Given the description of an element on the screen output the (x, y) to click on. 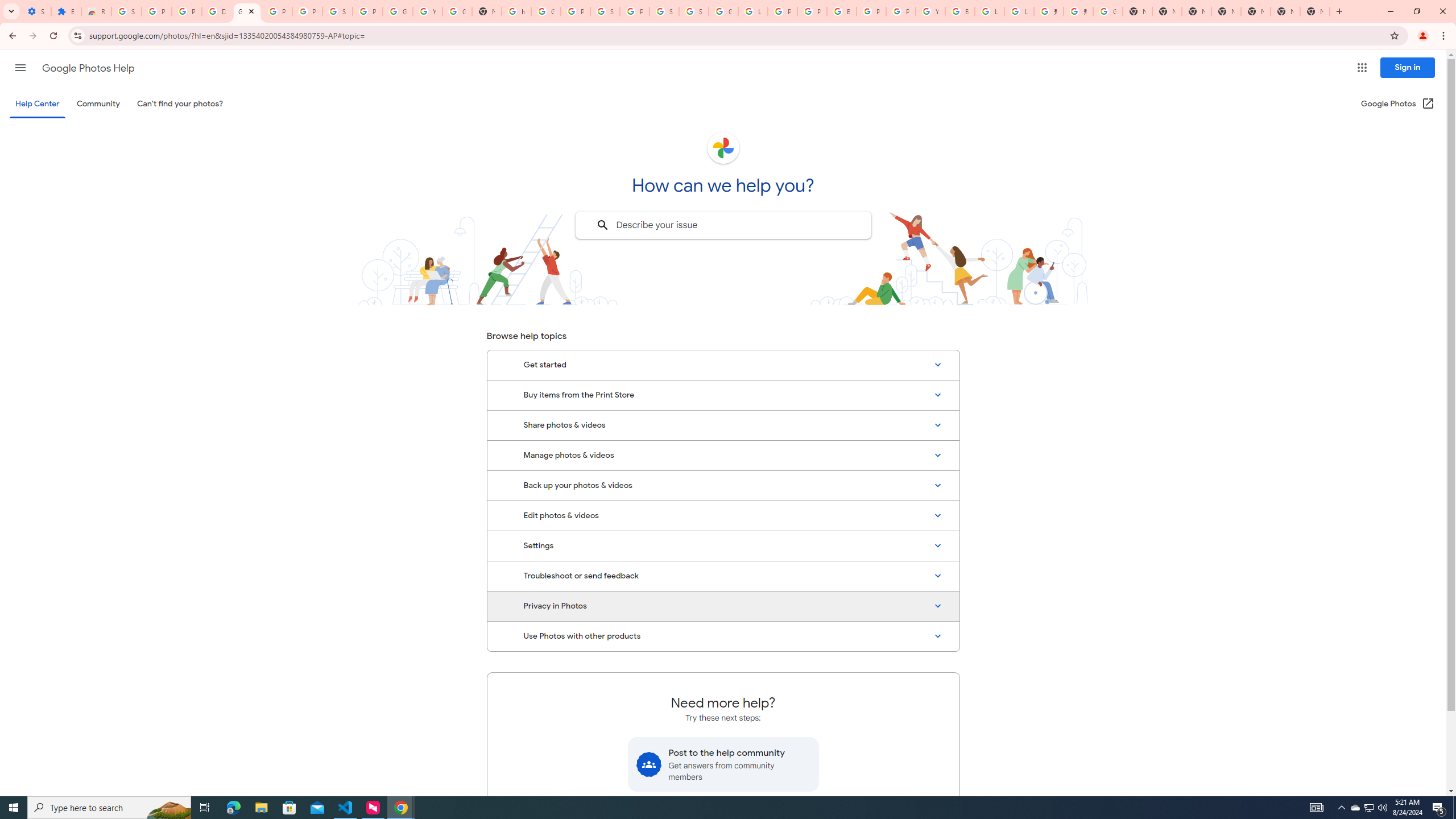
Sign in - Google Accounts (664, 11)
Google Photos Help (87, 68)
Sign in - Google Accounts (337, 11)
YouTube (930, 11)
Can't find your photos? (180, 103)
Use Photos with other products (722, 636)
Edit photos & videos (722, 515)
